Given the description of an element on the screen output the (x, y) to click on. 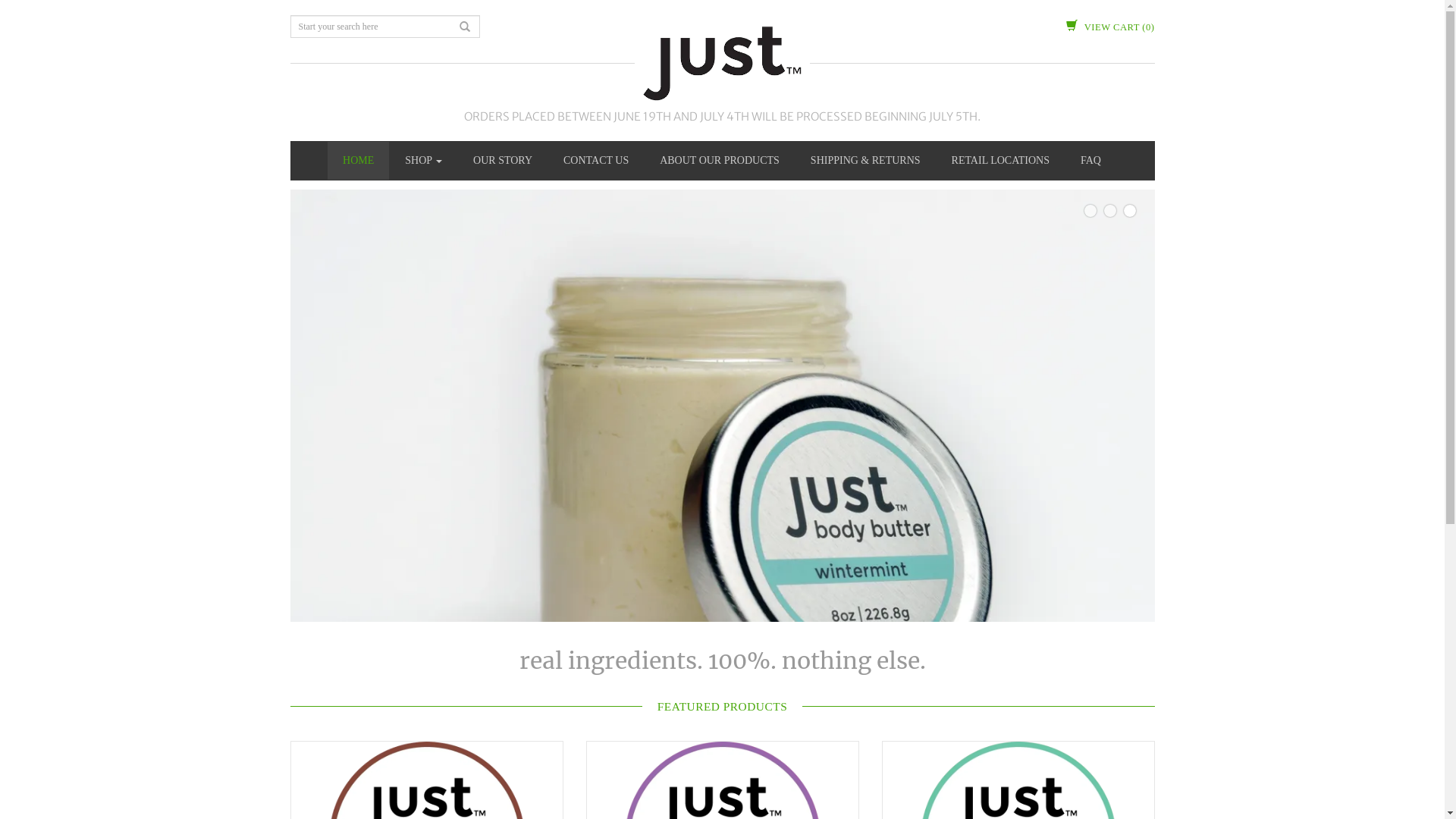
CONTACT US Element type: text (595, 160)
SHOP Element type: text (423, 160)
FAQ Element type: text (1090, 160)
RETAIL LOCATIONS Element type: text (1000, 160)
ABOUT OUR PRODUCTS Element type: text (719, 160)
1 Element type: text (1090, 210)
OUR STORY Element type: text (502, 160)
2 Element type: text (1110, 210)
HOME Element type: text (358, 160)
3 Element type: text (1129, 210)
SHIPPING & RETURNS Element type: text (865, 160)
VIEW CART (0) Element type: text (1110, 26)
